Given the description of an element on the screen output the (x, y) to click on. 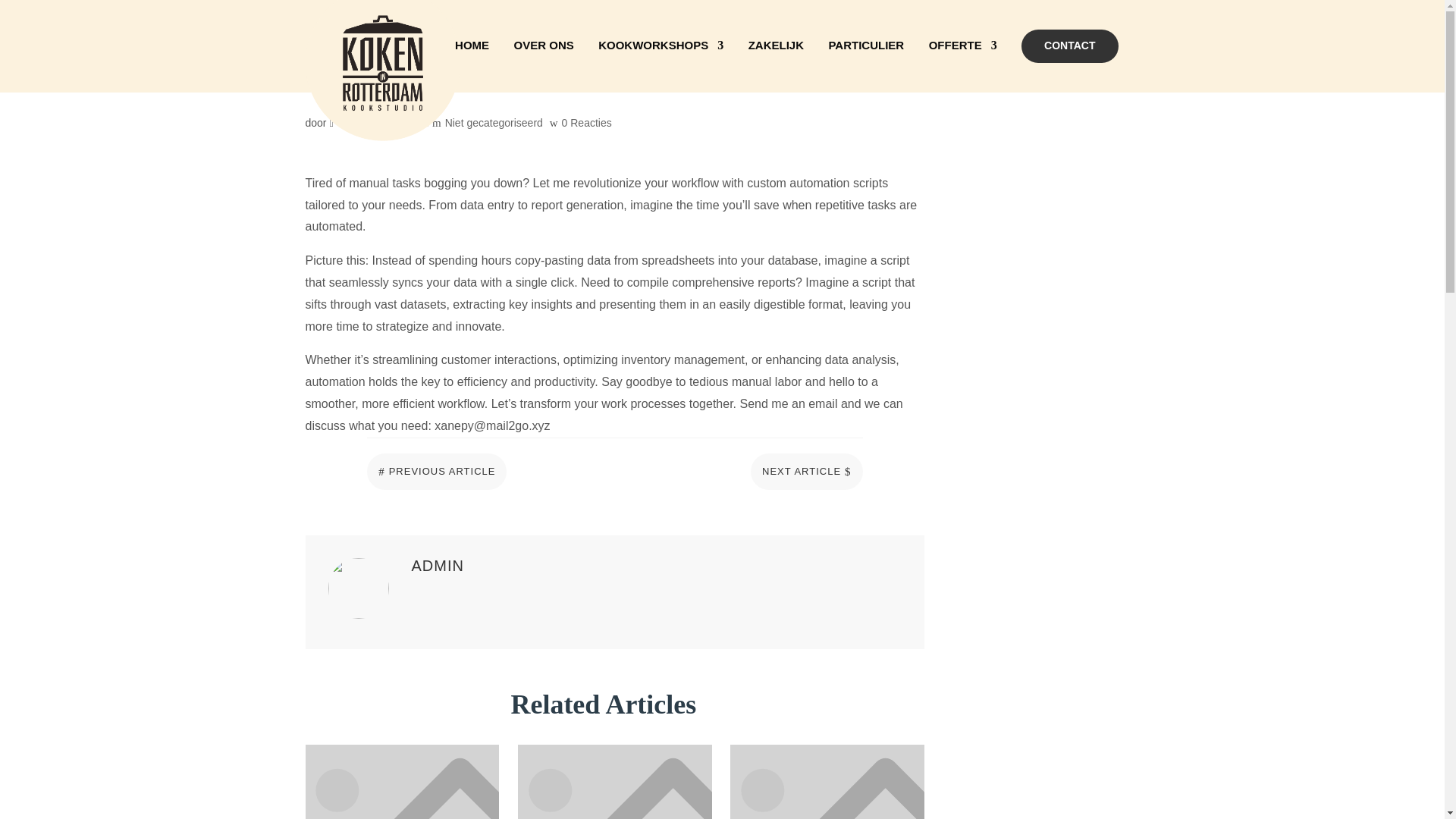
admin (351, 122)
OVER ONS (543, 64)
OFFERTE (962, 64)
ZAKELIJK (775, 64)
PARTICULIER (866, 64)
Posts van admin (351, 122)
CONTACT (1070, 46)
KOOKWORKSHOPS (660, 64)
